Given the description of an element on the screen output the (x, y) to click on. 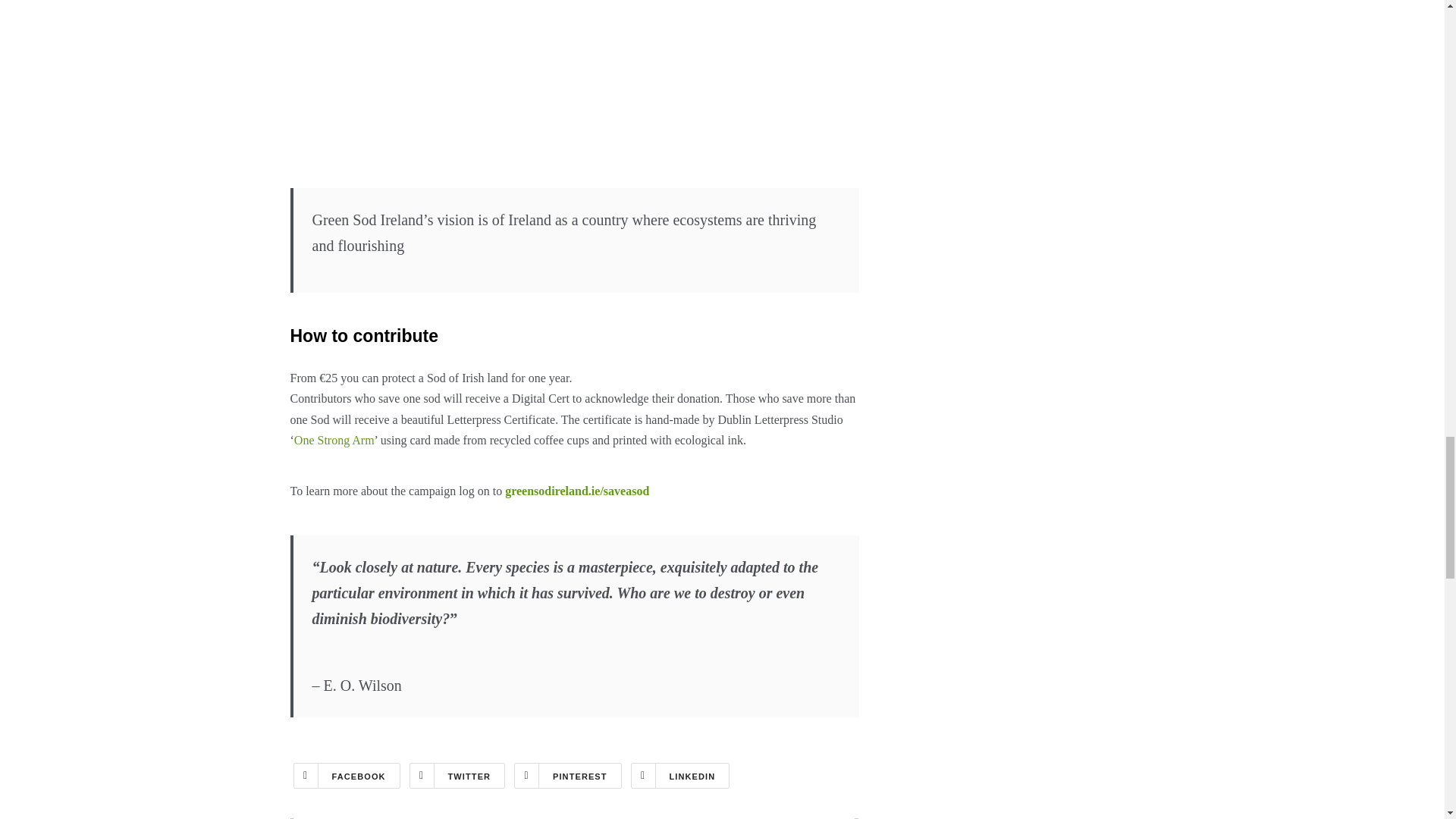
PINTEREST (567, 775)
One Strong Arm (334, 440)
YouTube player (574, 86)
TWITTER (457, 775)
Christmas Spirit (722, 816)
What is your Sustainable Vision for 2030? (425, 816)
FACEBOOK (345, 775)
LINKEDIN (680, 775)
